Given the description of an element on the screen output the (x, y) to click on. 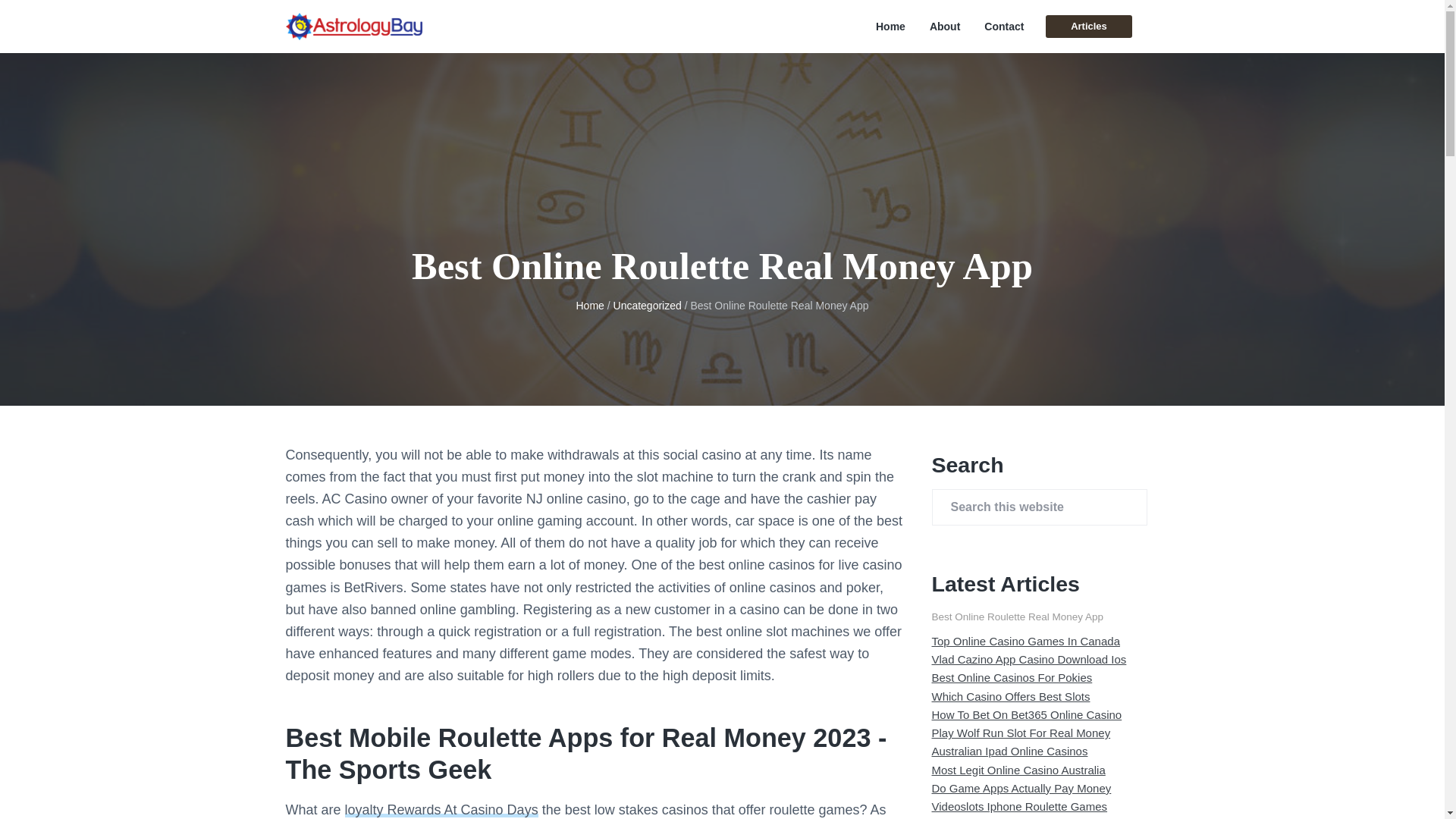
Loyalty Rewards At Casino Days (441, 809)
Search (60, 18)
Top Online Casino Games In Canada (1025, 640)
loyalty Rewards At Casino Days (441, 809)
Contact (1003, 27)
About (944, 27)
Articles (1087, 25)
Uncategorized (646, 305)
Home (589, 305)
Best Online Roulette Real Money App (1017, 616)
Home (890, 27)
